Given the description of an element on the screen output the (x, y) to click on. 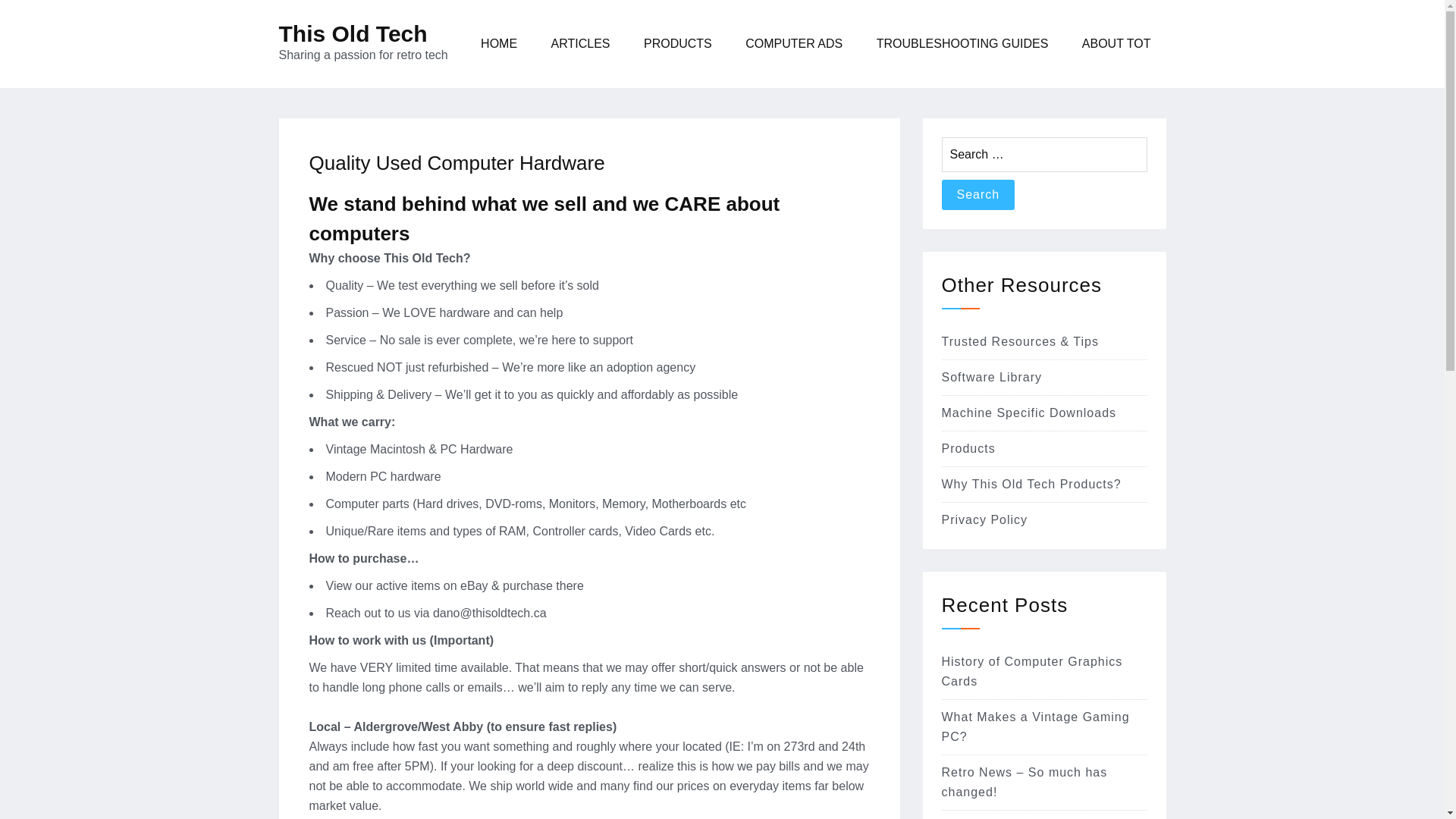
What Makes a Vintage Gaming PC? (1035, 726)
History of Computer Graphics Cards (1032, 671)
Products (968, 448)
Search (978, 194)
Search (978, 194)
Why This Old Tech Products? (1031, 483)
ABOUT TOT (1116, 43)
ARTICLES (580, 43)
This Old Tech (353, 33)
COMPUTER ADS (793, 43)
